Given the description of an element on the screen output the (x, y) to click on. 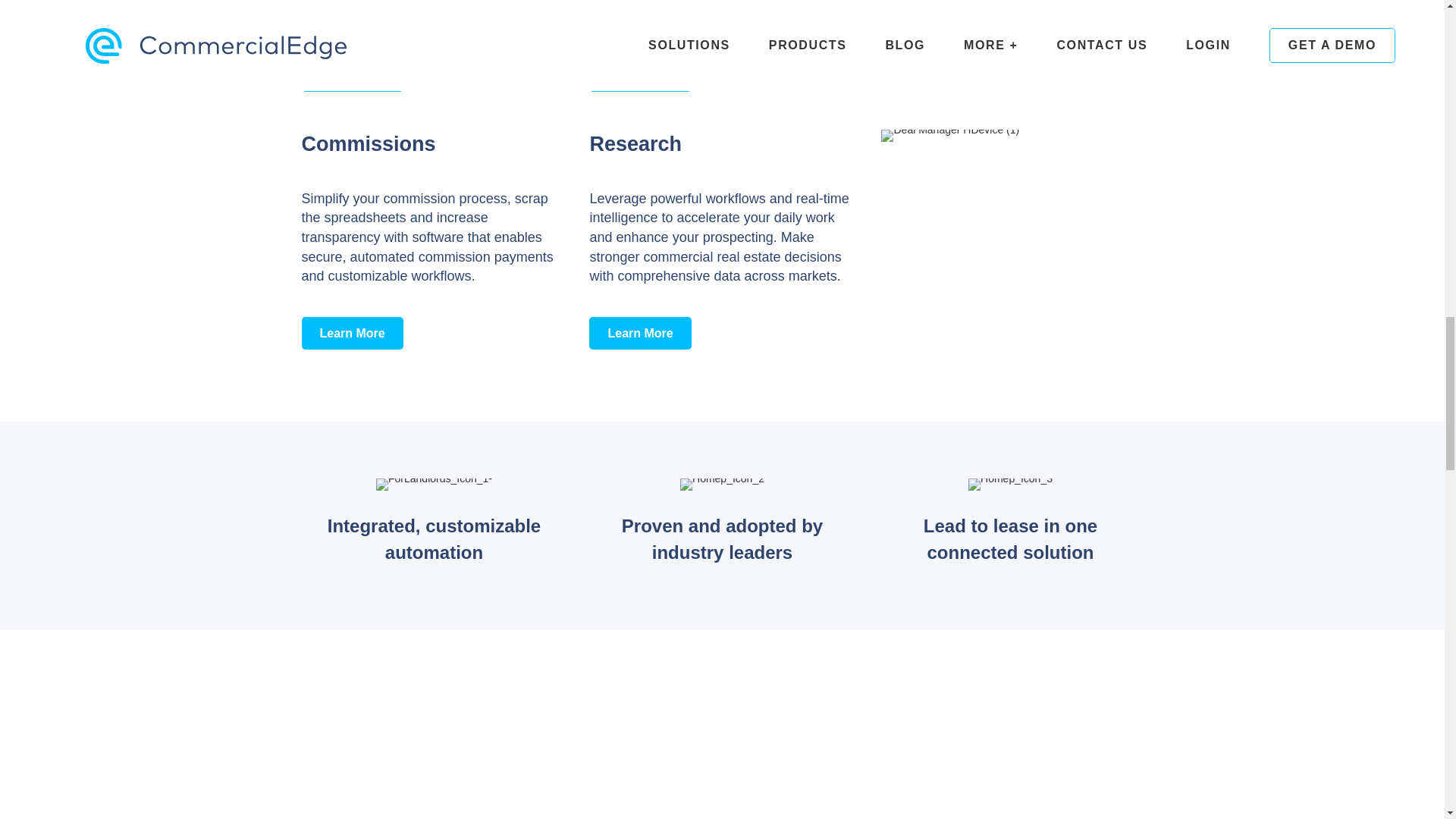
Learn More (928, 55)
Learn More (352, 332)
Learn More (639, 74)
Learn More (639, 332)
Learn More (352, 74)
